Given the description of an element on the screen output the (x, y) to click on. 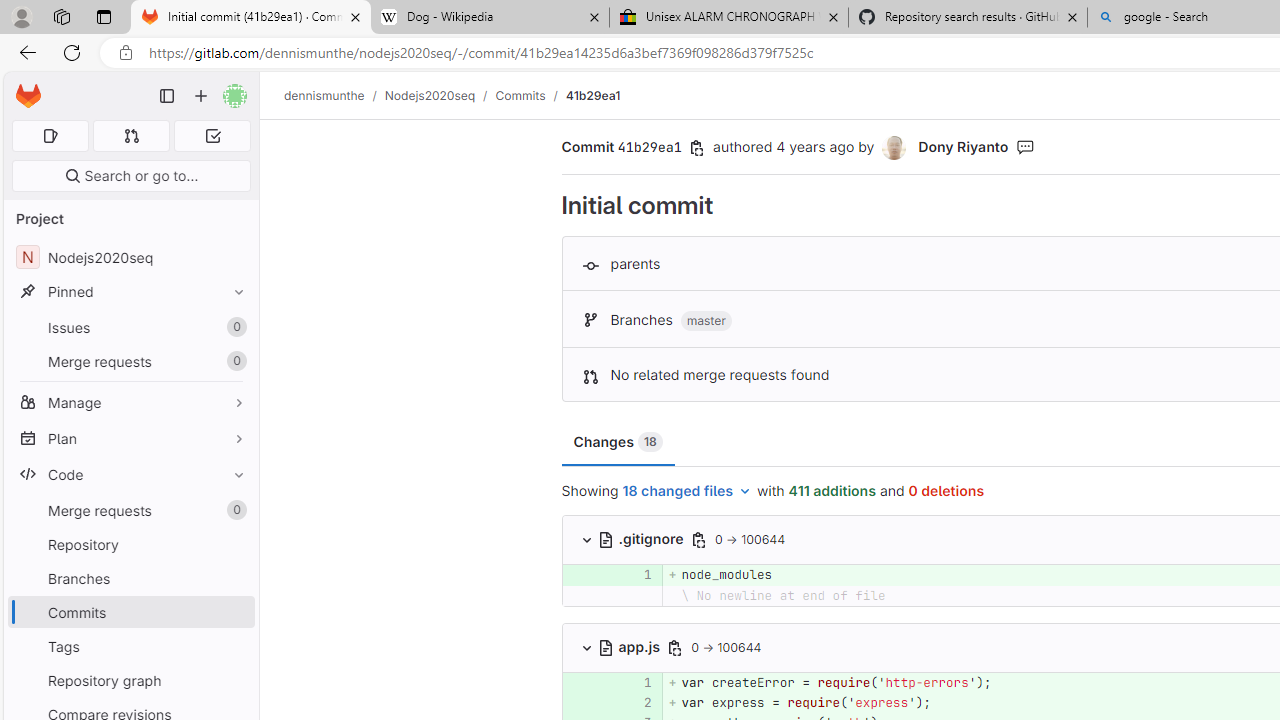
Pin Tags (234, 646)
Commits/ (530, 95)
1 (633, 681)
NNodejs2020seq (130, 257)
Code (130, 474)
Repository (130, 543)
Class: s16 gl-icon gl-button-icon  (674, 647)
18 changed files (687, 491)
Pin Branches (234, 578)
2 (633, 701)
41b29ea1 (592, 95)
